Given the description of an element on the screen output the (x, y) to click on. 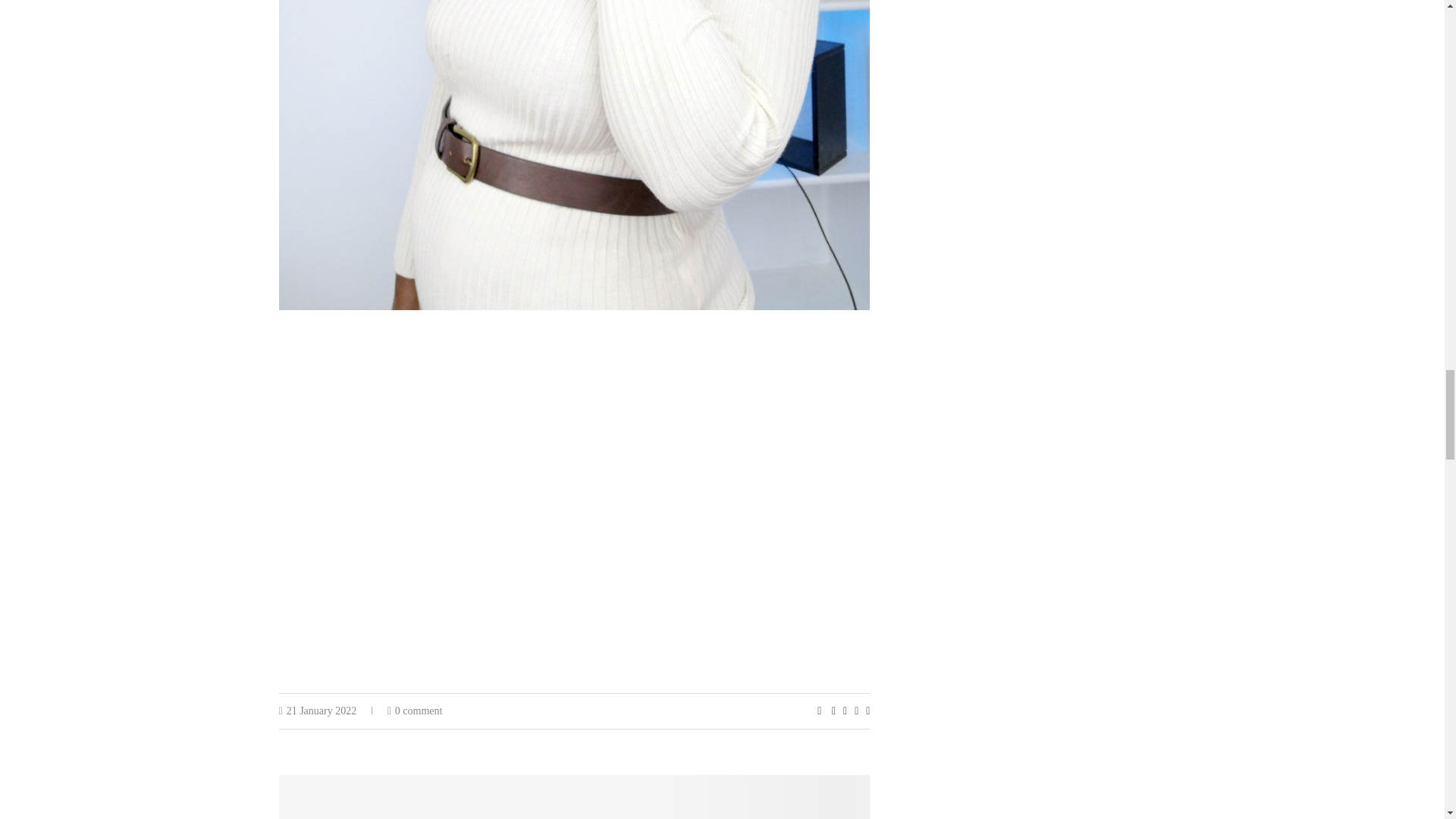
Wash and go (574, 796)
Like (818, 711)
